Given the description of an element on the screen output the (x, y) to click on. 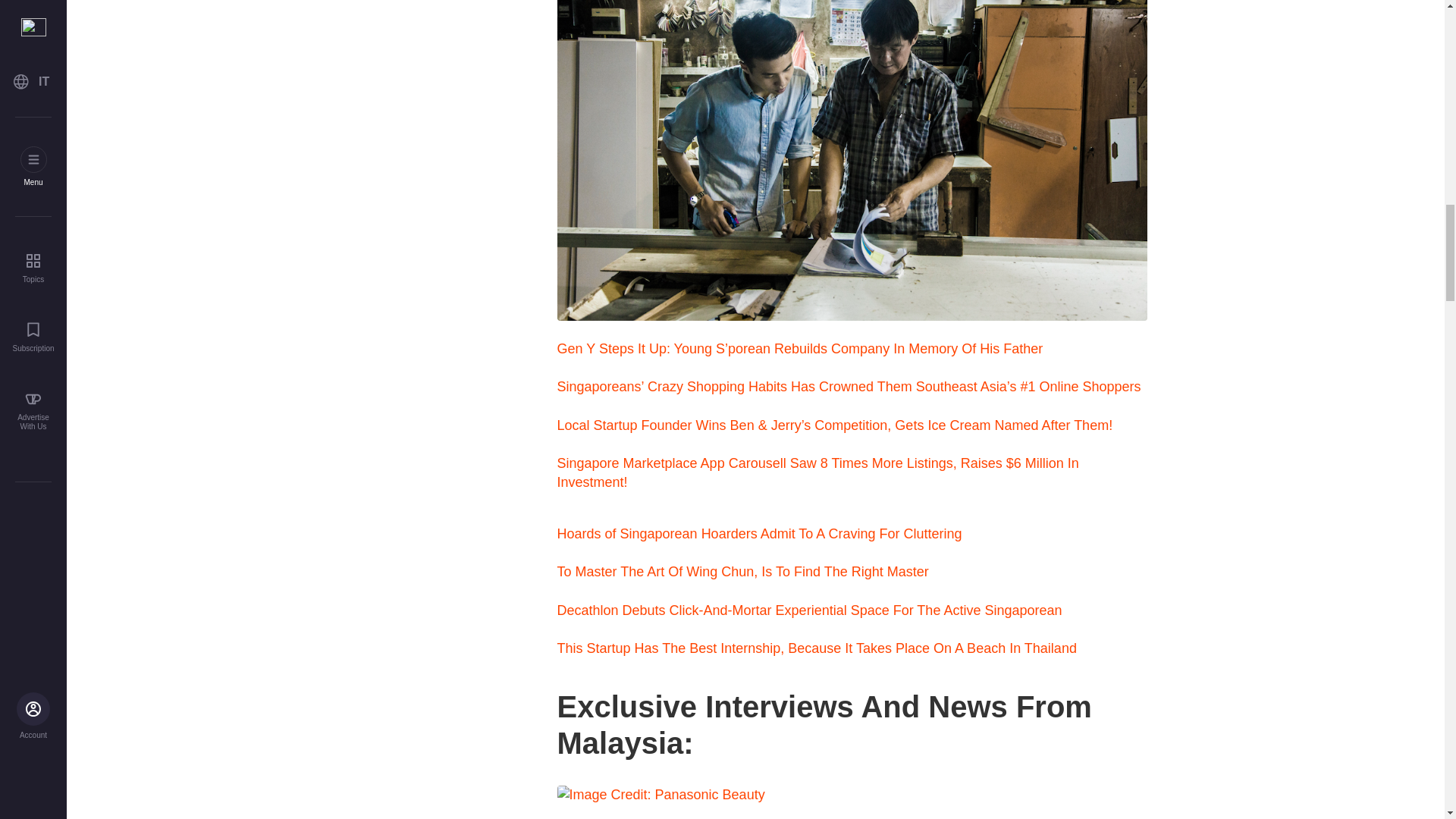
To Master The Art Of Wing Chun, Is To Find The Right Master (742, 571)
To Master The Art Of Wing Chun, Is To Find The Right Master (742, 571)
